Given the description of an element on the screen output the (x, y) to click on. 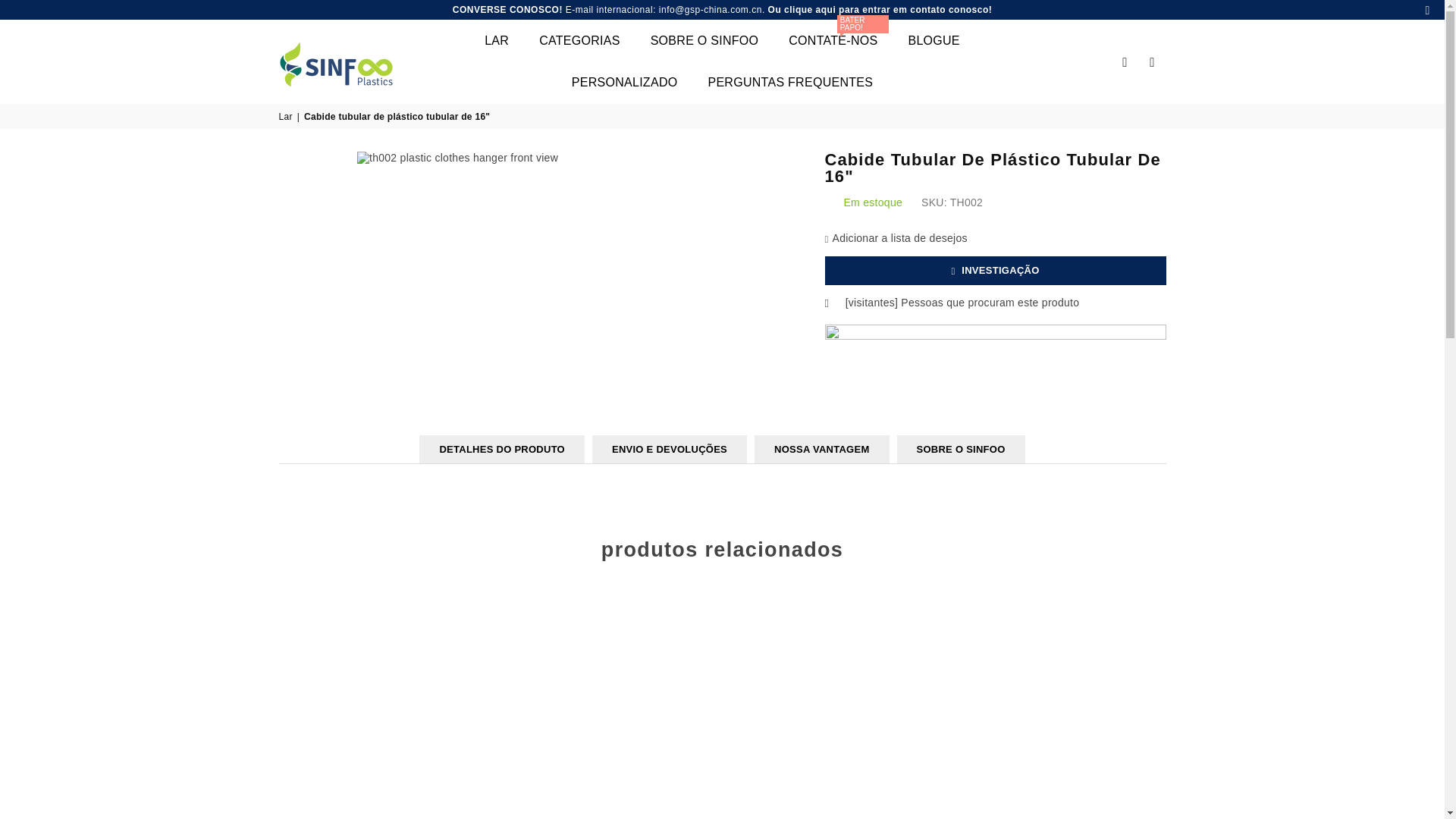
Procurar (1125, 60)
Lista de Desejos (1152, 60)
SINFOO PLASTIC MANUFACTURE (346, 61)
CATEGORIAS (579, 40)
LAR (496, 40)
